Given the description of an element on the screen output the (x, y) to click on. 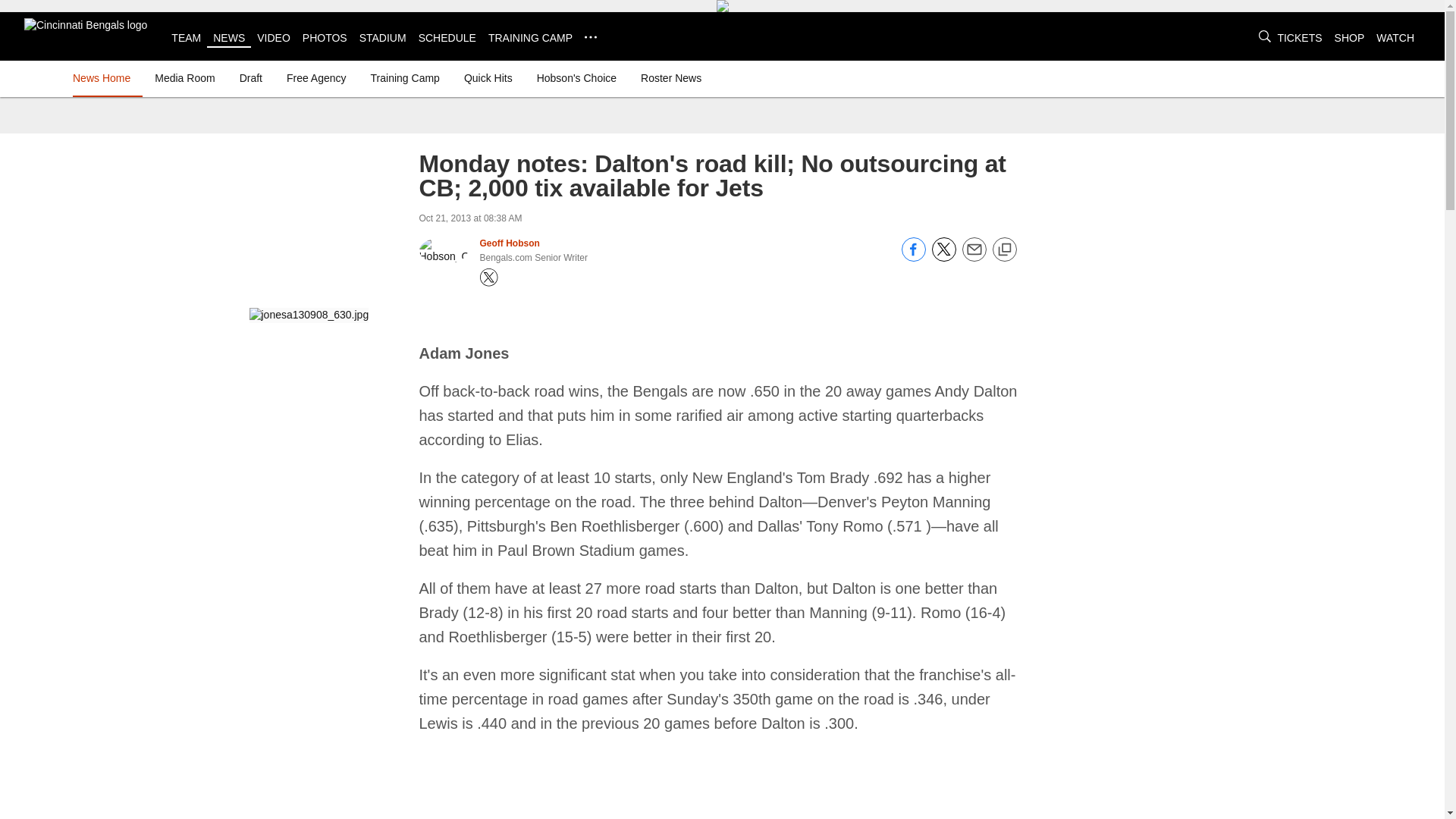
TRAINING CAMP (529, 37)
STADIUM (382, 37)
Free Agency (316, 77)
Quick Hits (488, 77)
News Home (104, 77)
Hobson's Choice (577, 77)
VIDEO (273, 37)
NEWS (228, 37)
WATCH (1394, 37)
Media Room (184, 77)
